Given the description of an element on the screen output the (x, y) to click on. 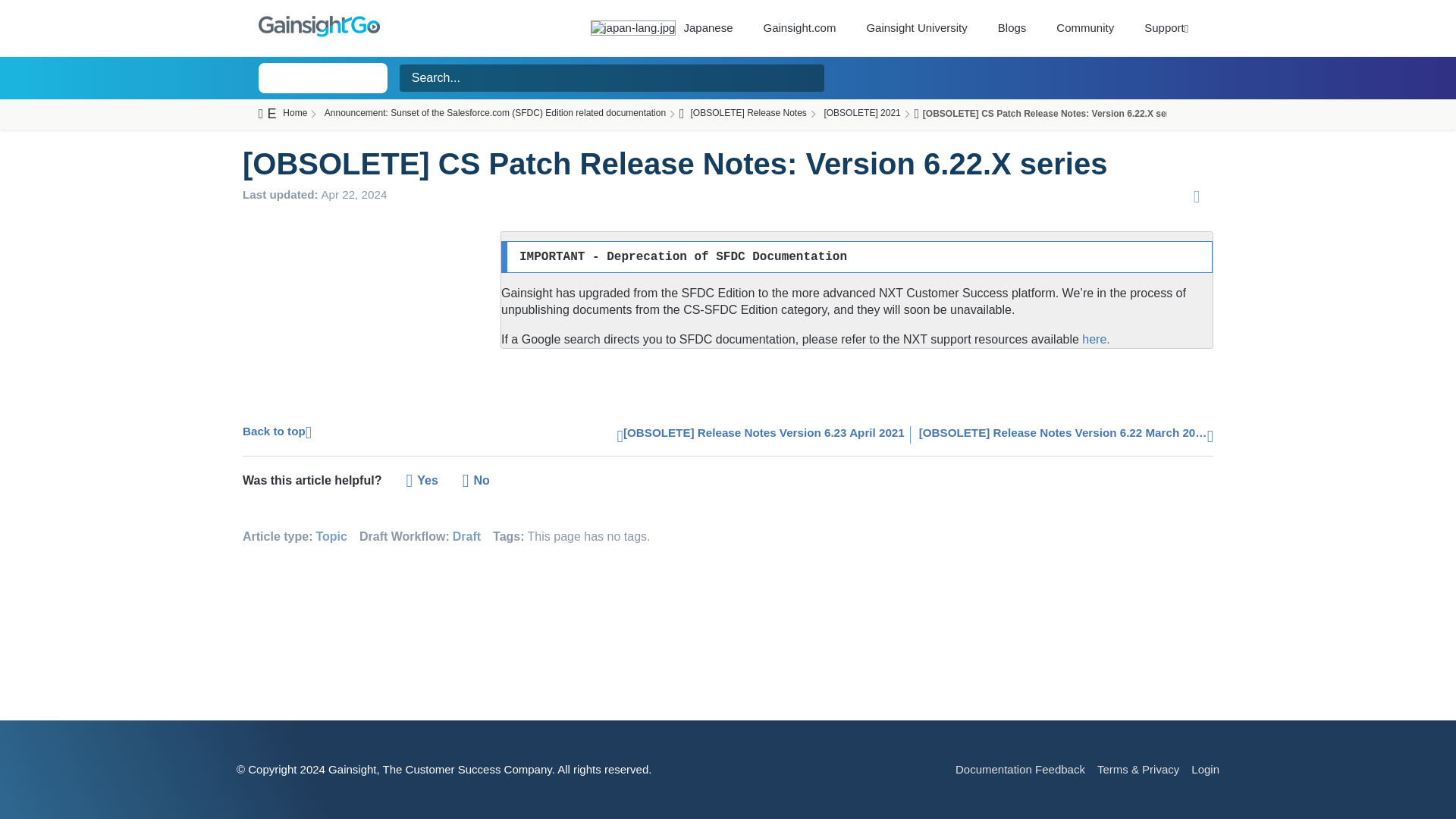
Home (293, 113)
Japanese (660, 27)
Jump back to top of this article (277, 429)
Gainsight University (916, 27)
Gainsight.com (799, 27)
Blogs (1011, 27)
Support (1165, 27)
Community (1084, 27)
